Given the description of an element on the screen output the (x, y) to click on. 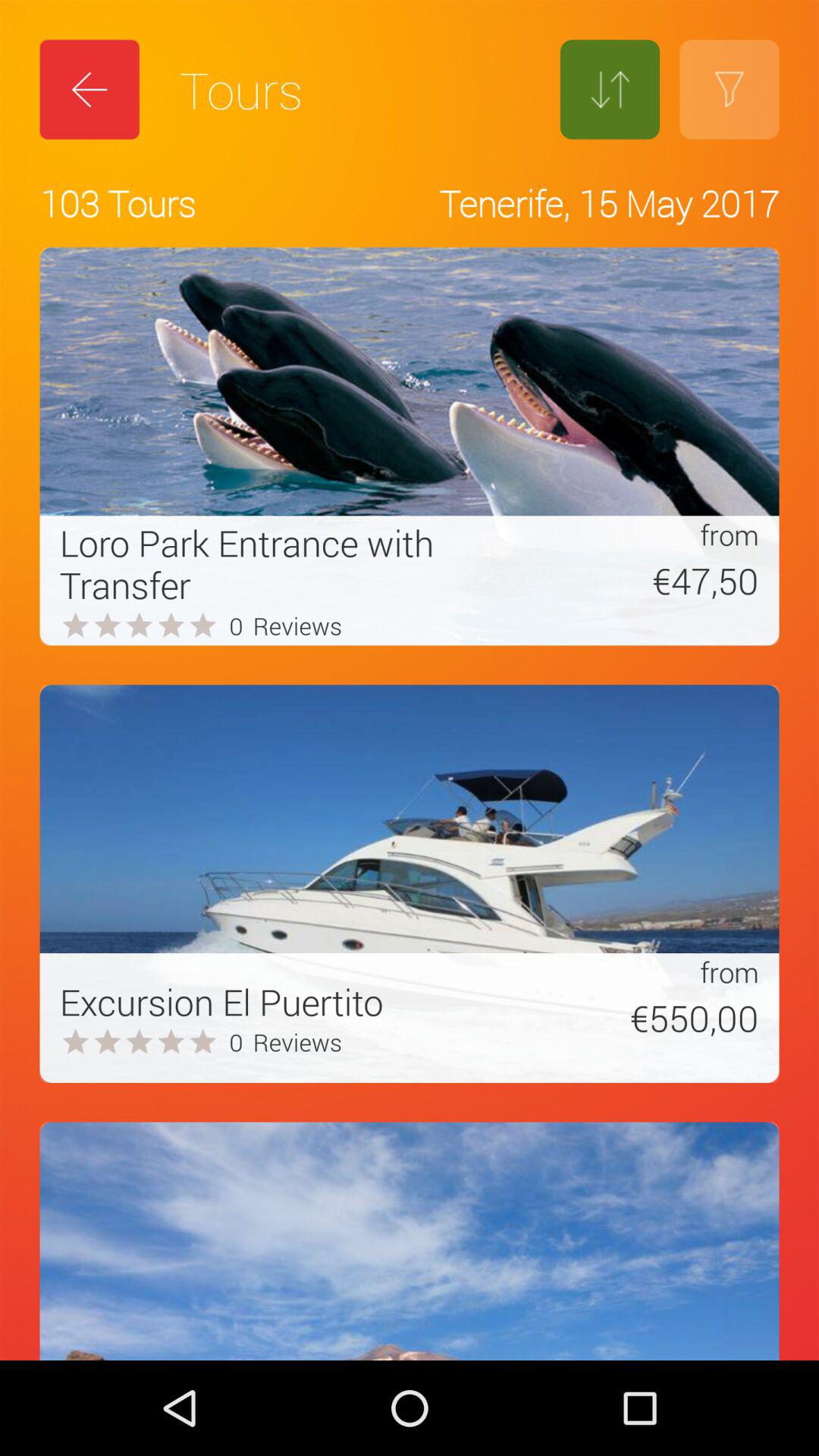
press excursion el puertito item (221, 1001)
